Given the description of an element on the screen output the (x, y) to click on. 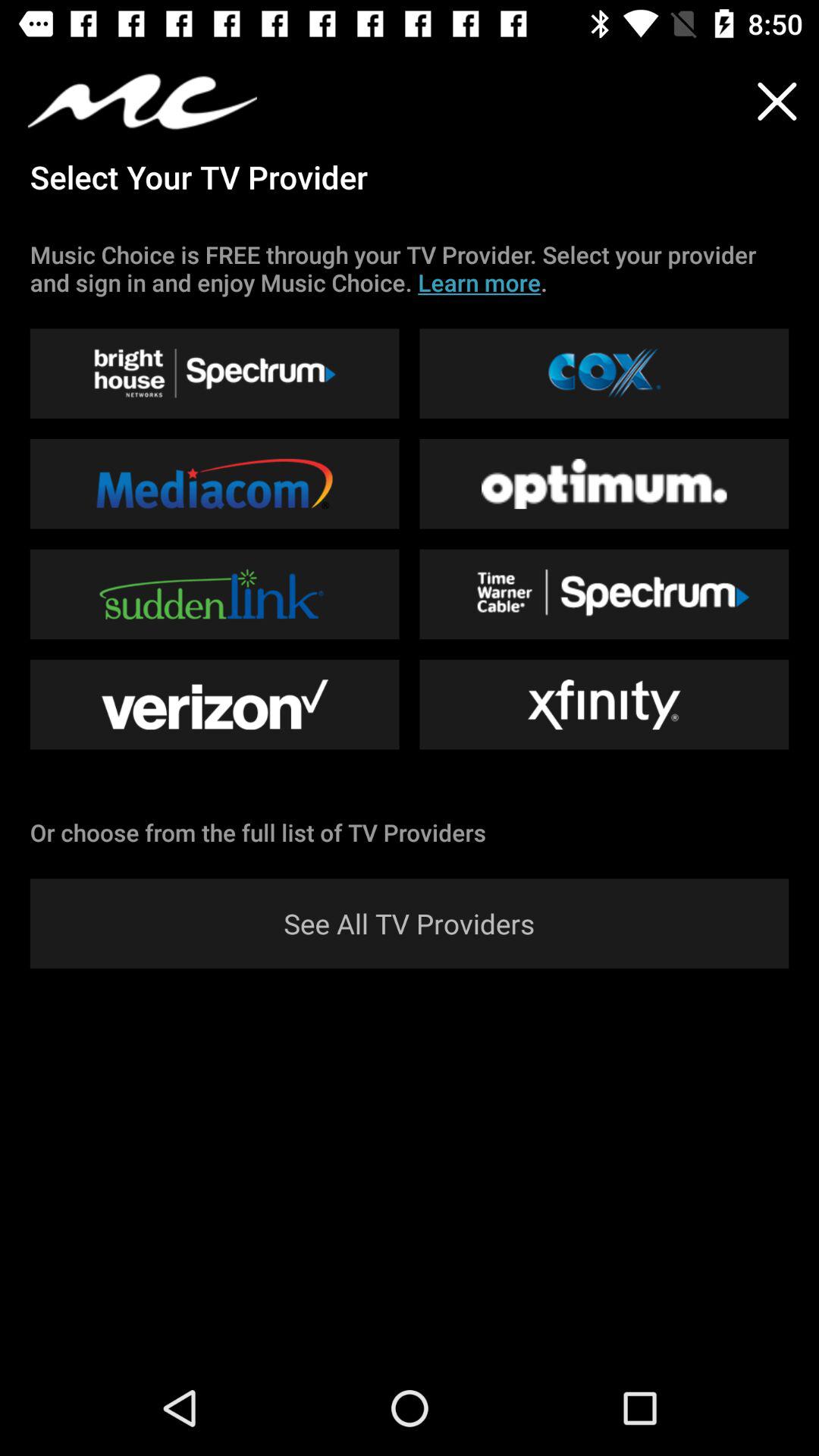
turn off icon above music choice is (777, 101)
